Given the description of an element on the screen output the (x, y) to click on. 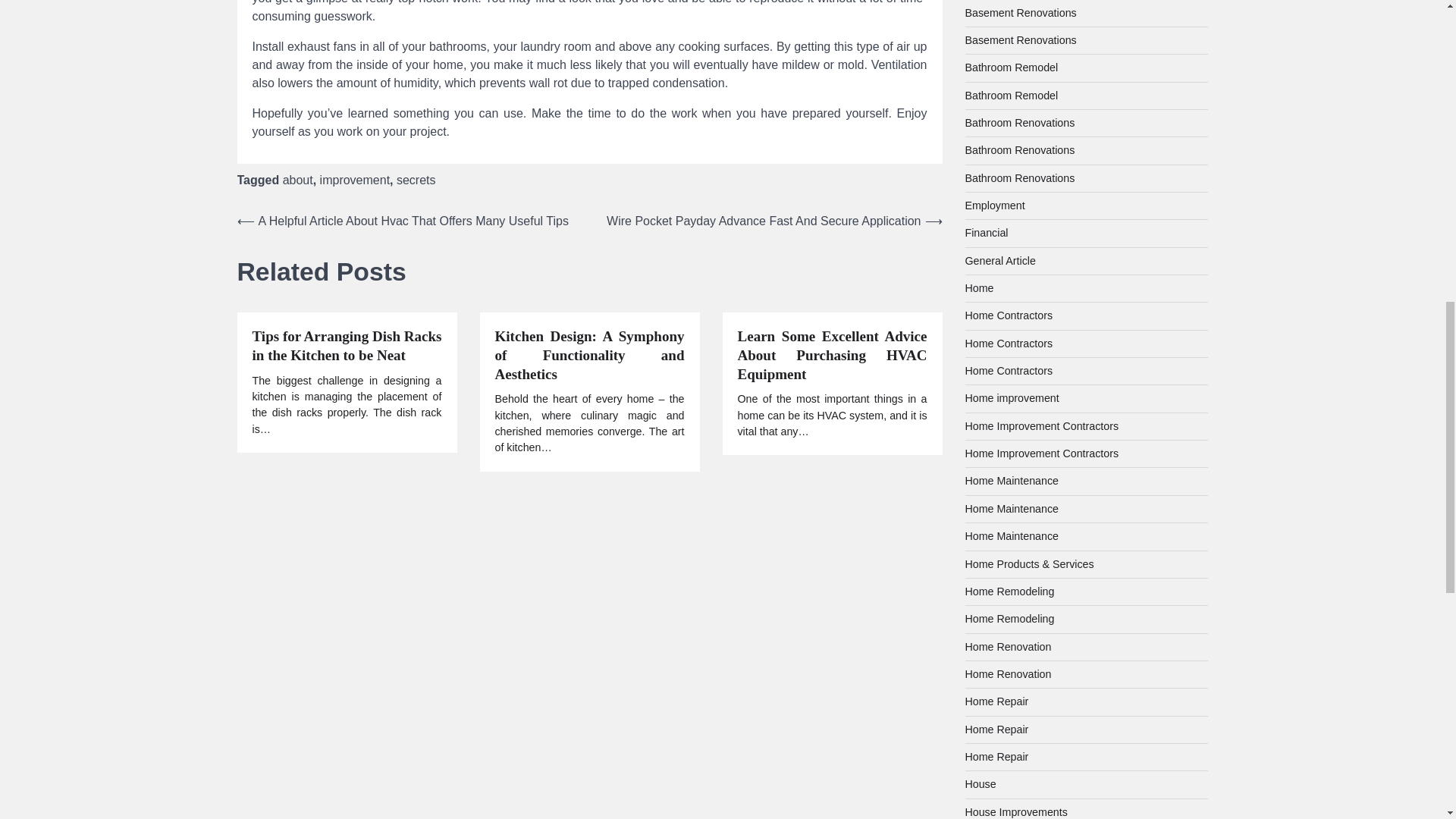
improvement (355, 179)
secrets (415, 179)
about (297, 179)
